Given the description of an element on the screen output the (x, y) to click on. 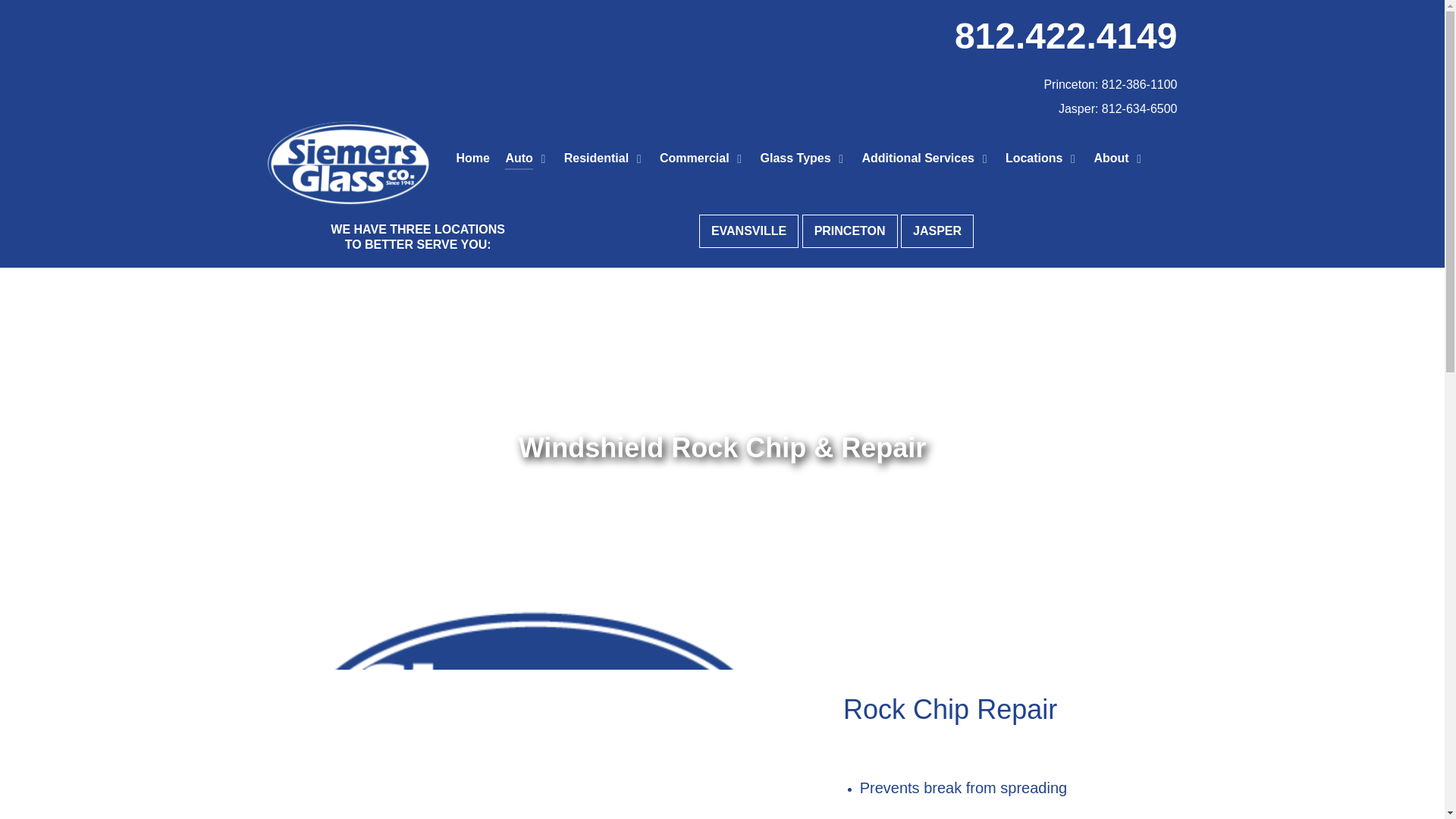
Jasper: 812-634-6500 (1117, 108)
Auto (526, 159)
Princeton: 812-386-1100 (1109, 83)
Home (473, 159)
812.422.4149 (1066, 35)
Home (473, 159)
Commercial (701, 159)
812.422.4149 (1066, 35)
Residential (604, 159)
Logo (348, 164)
Jasper: 812-634-6500 (1117, 108)
Auto (526, 159)
Princeton: 812-386-1100 (1109, 83)
